Given the description of an element on the screen output the (x, y) to click on. 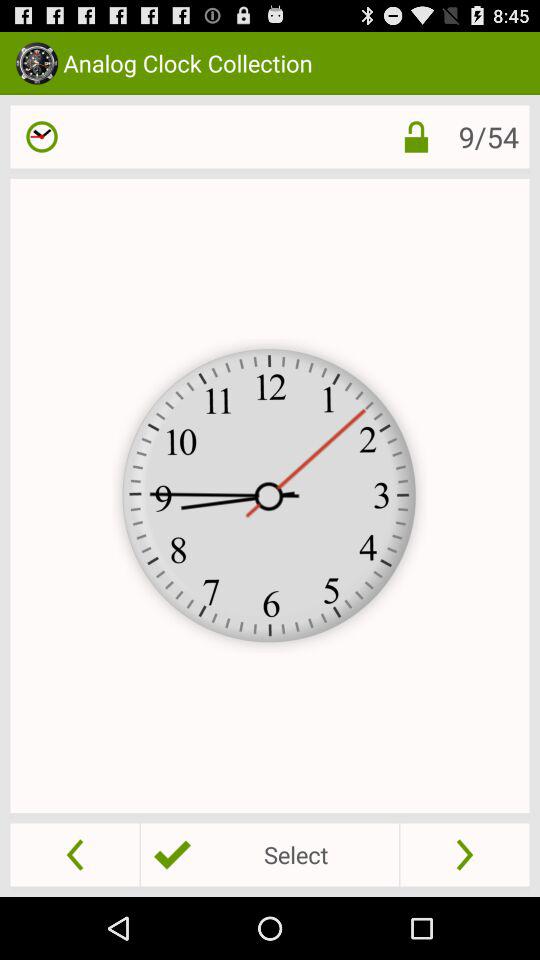
lock clock (400, 136)
